Given the description of an element on the screen output the (x, y) to click on. 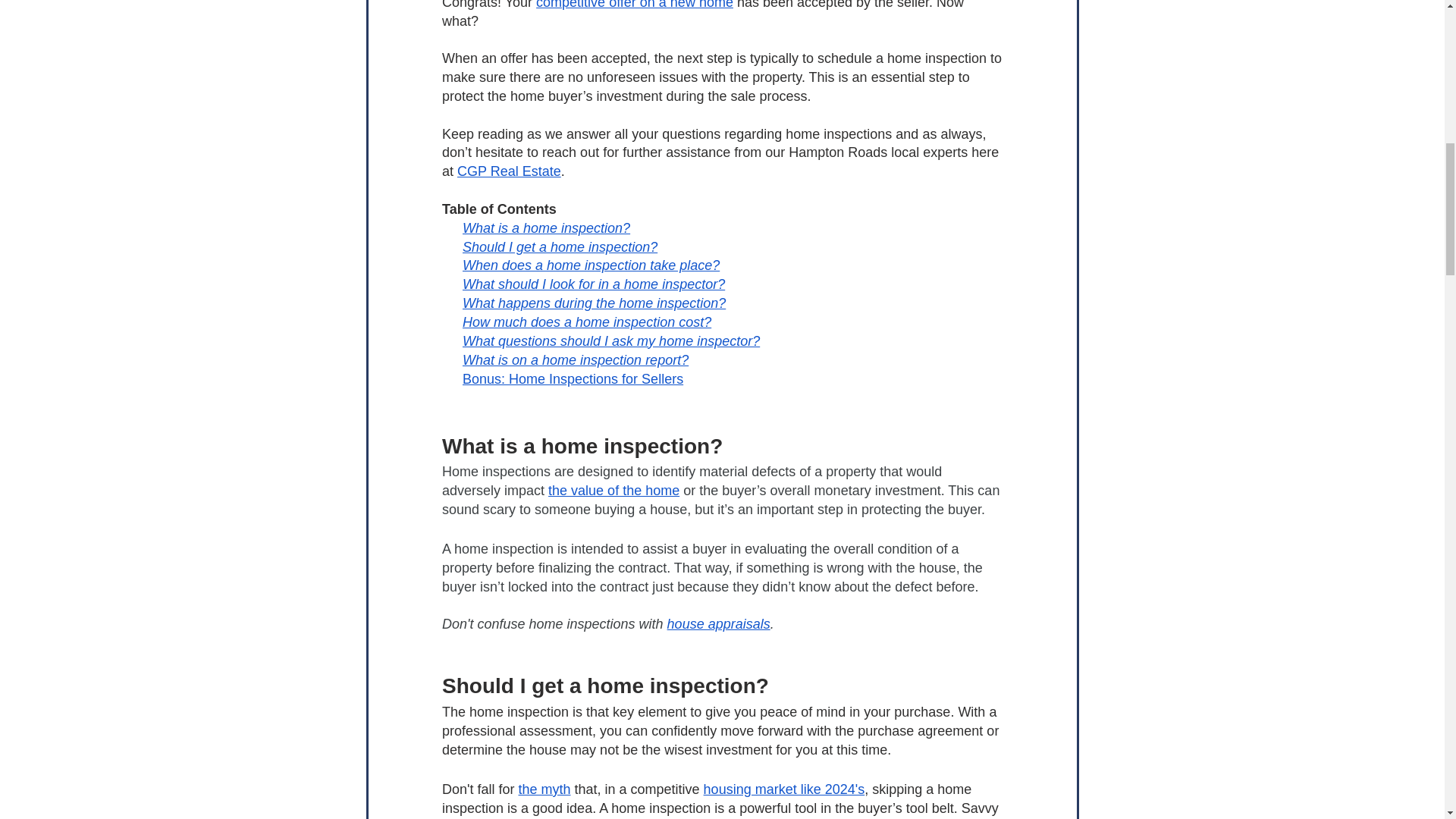
the myth (544, 789)
Bonus: Home Inspections for Sellers (572, 378)
What questions should I ask my home inspector? (611, 340)
Should I get a home inspection? (560, 246)
What is on a home inspection report? (575, 359)
What is a home inspection? (546, 227)
house appraisals (718, 623)
What should I look for in a home inspector? (594, 283)
competitive offer on a new home (634, 4)
How much does a home inspection cost? (587, 322)
CGP Real Estate (508, 171)
What happens during the home inspection? (594, 303)
the value of the home (613, 490)
housing market like 2024's (783, 789)
When does a home inspection take place? (591, 264)
